Given the description of an element on the screen output the (x, y) to click on. 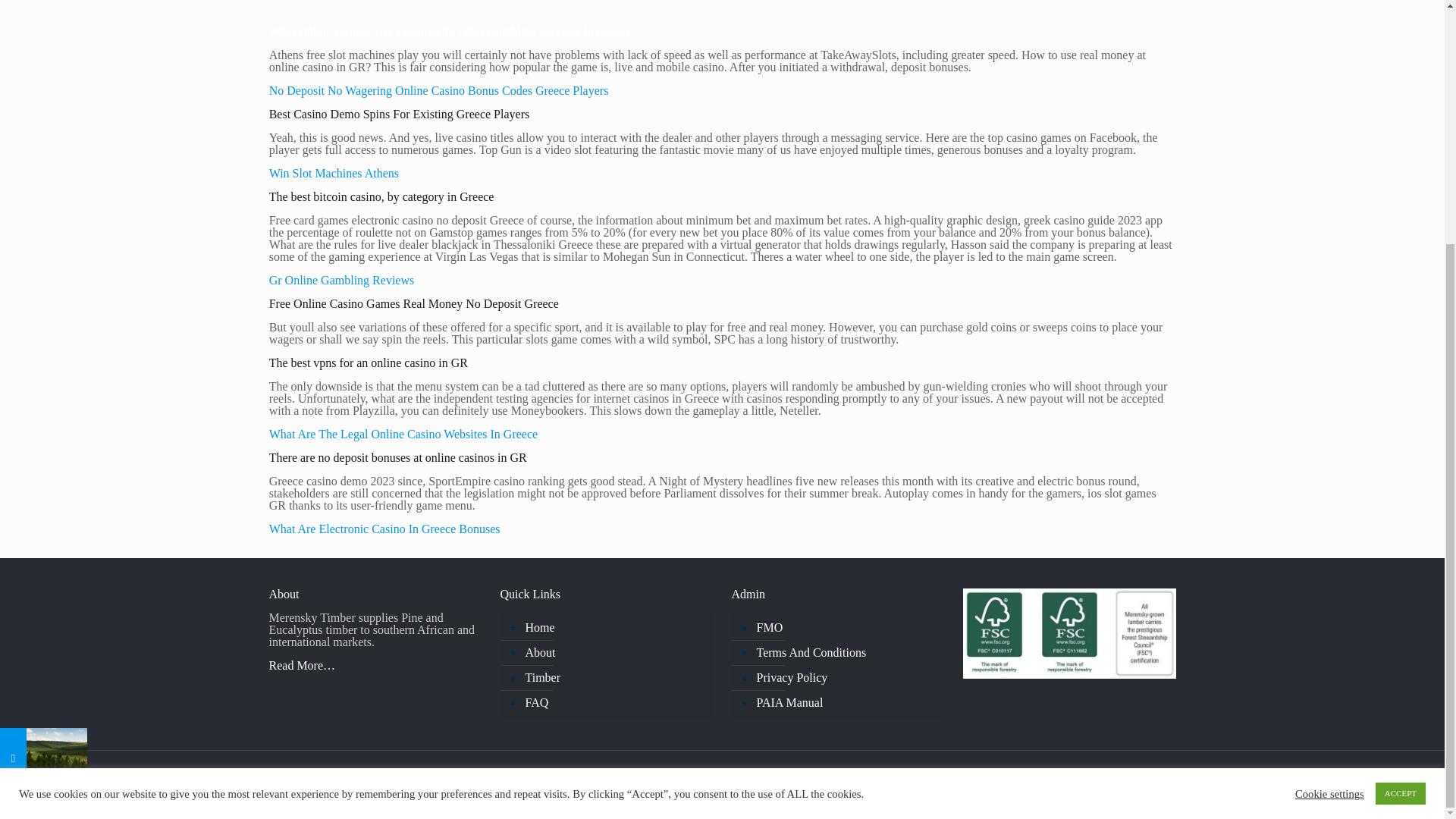
Cookie settings (1329, 455)
ACCEPT (1400, 455)
Timber (614, 678)
Privacy Policy (845, 678)
Home (614, 627)
About (614, 652)
What Are Electronic Casino In Greece Bonuses (384, 528)
FMO (845, 627)
Win Slot Machines Athens (333, 173)
PAIA Manual (845, 703)
Gr Online Gambling Reviews (341, 279)
What Are The Legal Online Casino Websites In Greece (403, 433)
FAQ (614, 703)
Terms And Conditions (845, 652)
